Given the description of an element on the screen output the (x, y) to click on. 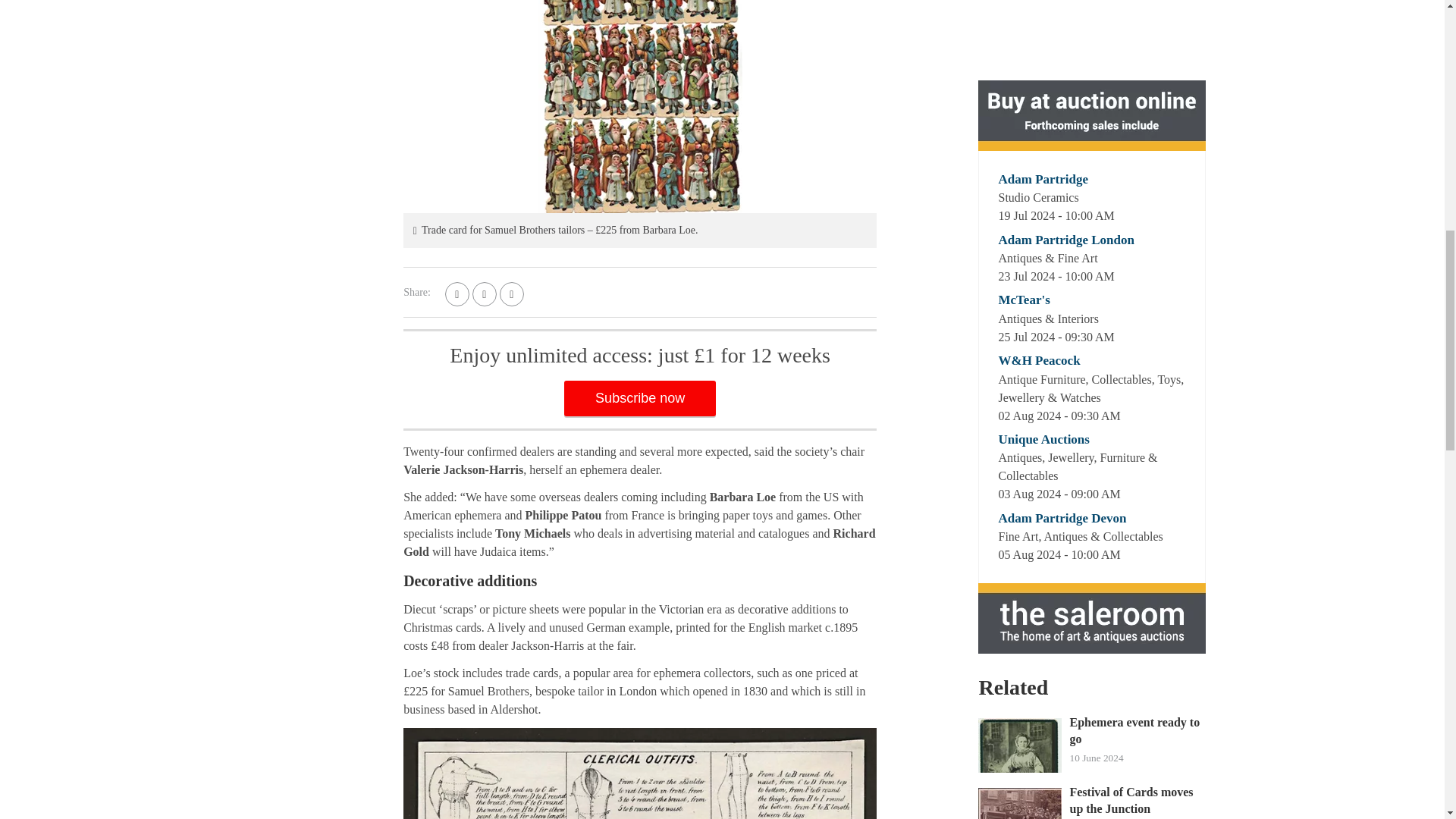
3rd party ad content (1091, 37)
the saleroom (1091, 618)
Ephemera event ready to go (1136, 731)
Festival of Cards moves up the Junction (1136, 800)
the saleroom (1091, 115)
